Given the description of an element on the screen output the (x, y) to click on. 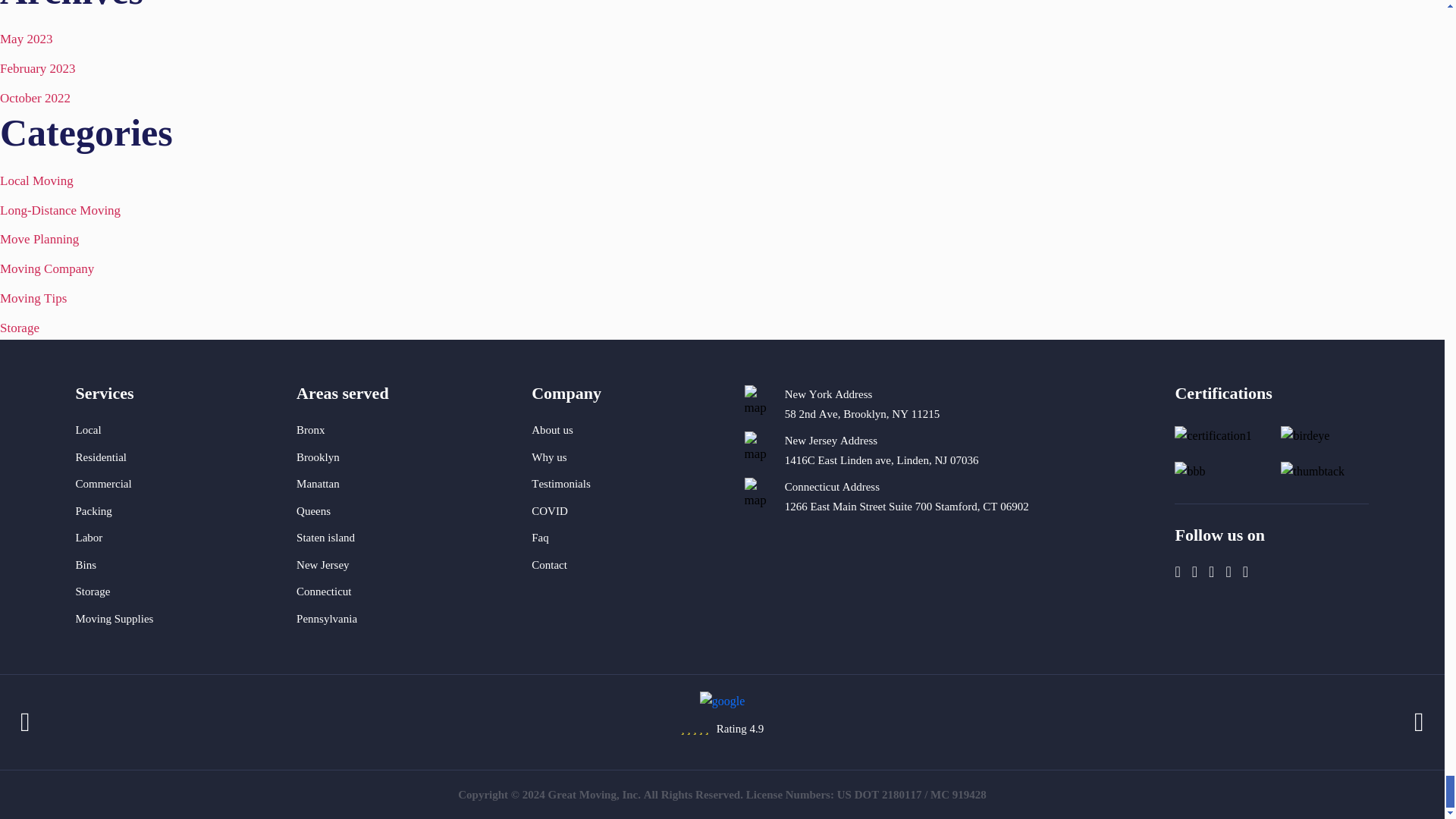
map (760, 448)
map (760, 494)
birdeye (1305, 435)
map (760, 401)
bbb (1189, 471)
google (722, 701)
thumbtack (1312, 471)
certification1 (1212, 435)
